Given the description of an element on the screen output the (x, y) to click on. 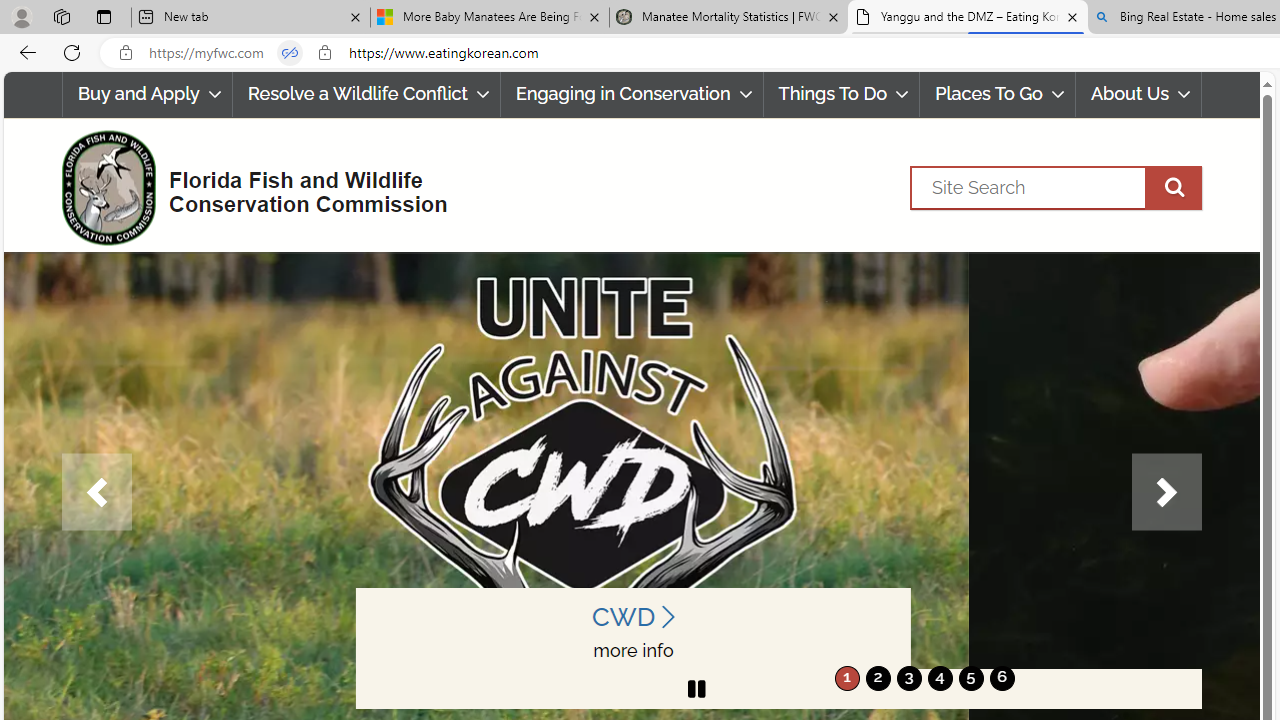
move to slide 5 (970, 678)
execute site search (1173, 187)
2 (877, 678)
move to slide 6 (1002, 678)
Things To Do (841, 94)
move to slide 1 (847, 678)
slider pause button (696, 688)
5 (970, 678)
Resolve a Wildlife Conflict (365, 94)
4 (939, 678)
1 (847, 678)
Buy and Apply (146, 94)
About Us (1139, 94)
